Given the description of an element on the screen output the (x, y) to click on. 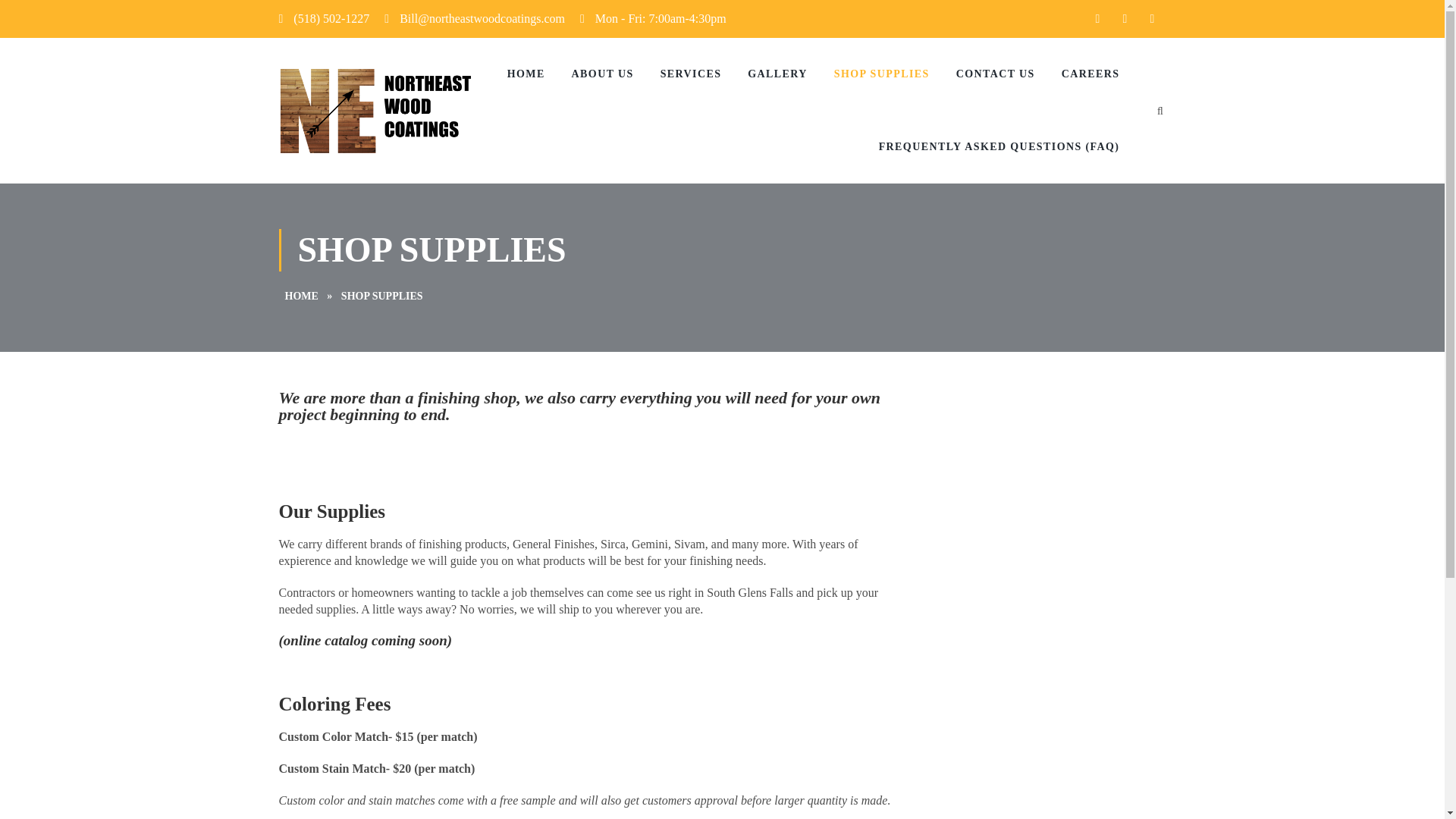
linkedin-in (1124, 18)
SHOP SUPPLIES (889, 73)
SERVICES (698, 73)
CONTACT US (1002, 73)
instagram (1151, 18)
CAREERS (1098, 73)
GALLERY (785, 73)
ABOUT US (610, 73)
HOME (301, 296)
facebook-f (1097, 18)
